Given the description of an element on the screen output the (x, y) to click on. 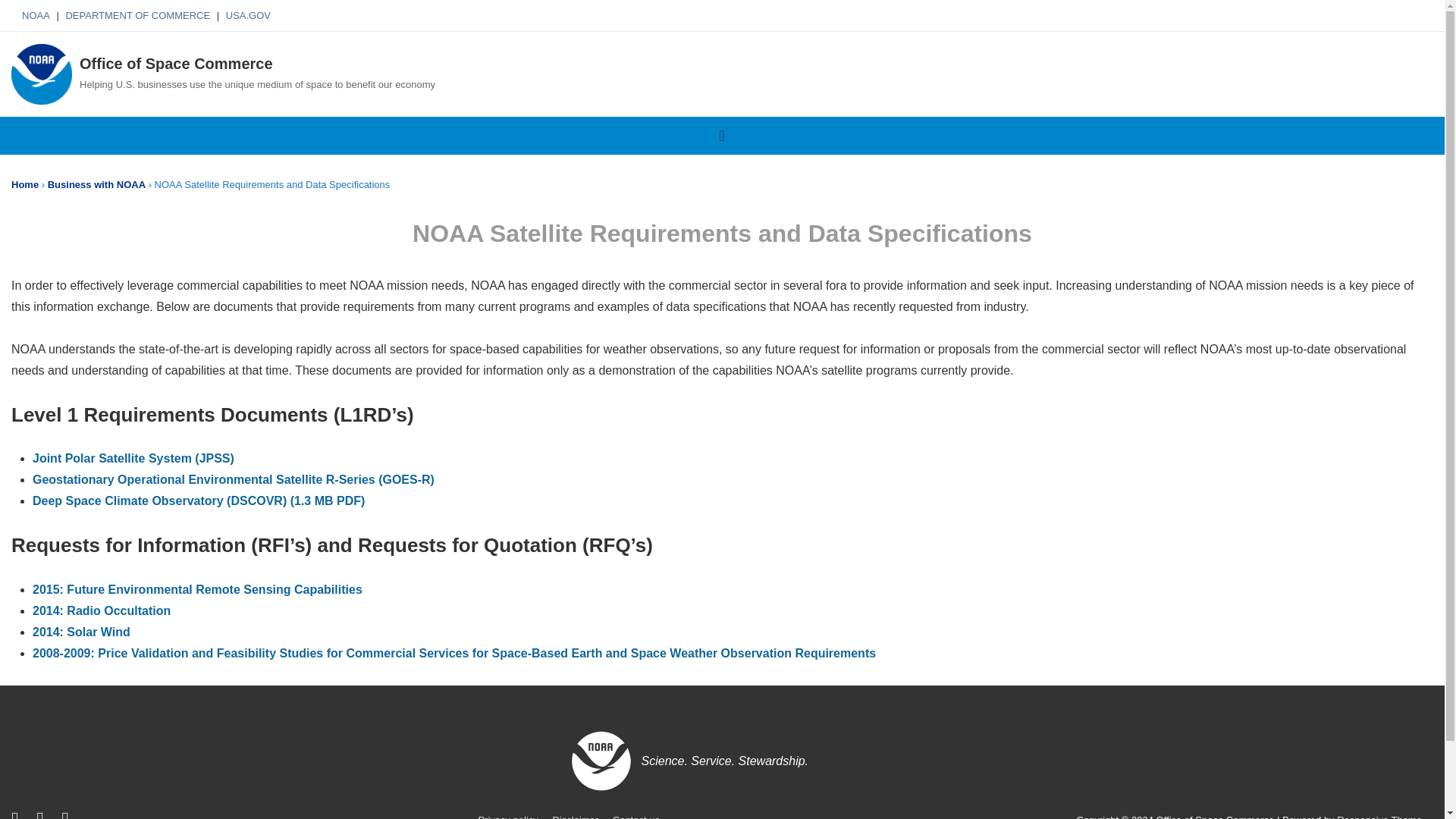
DEPARTMENT OF COMMERCE (137, 15)
MENU (721, 135)
Office of Space Commerce (176, 63)
NOAA (35, 15)
USA.GOV (247, 15)
